Given the description of an element on the screen output the (x, y) to click on. 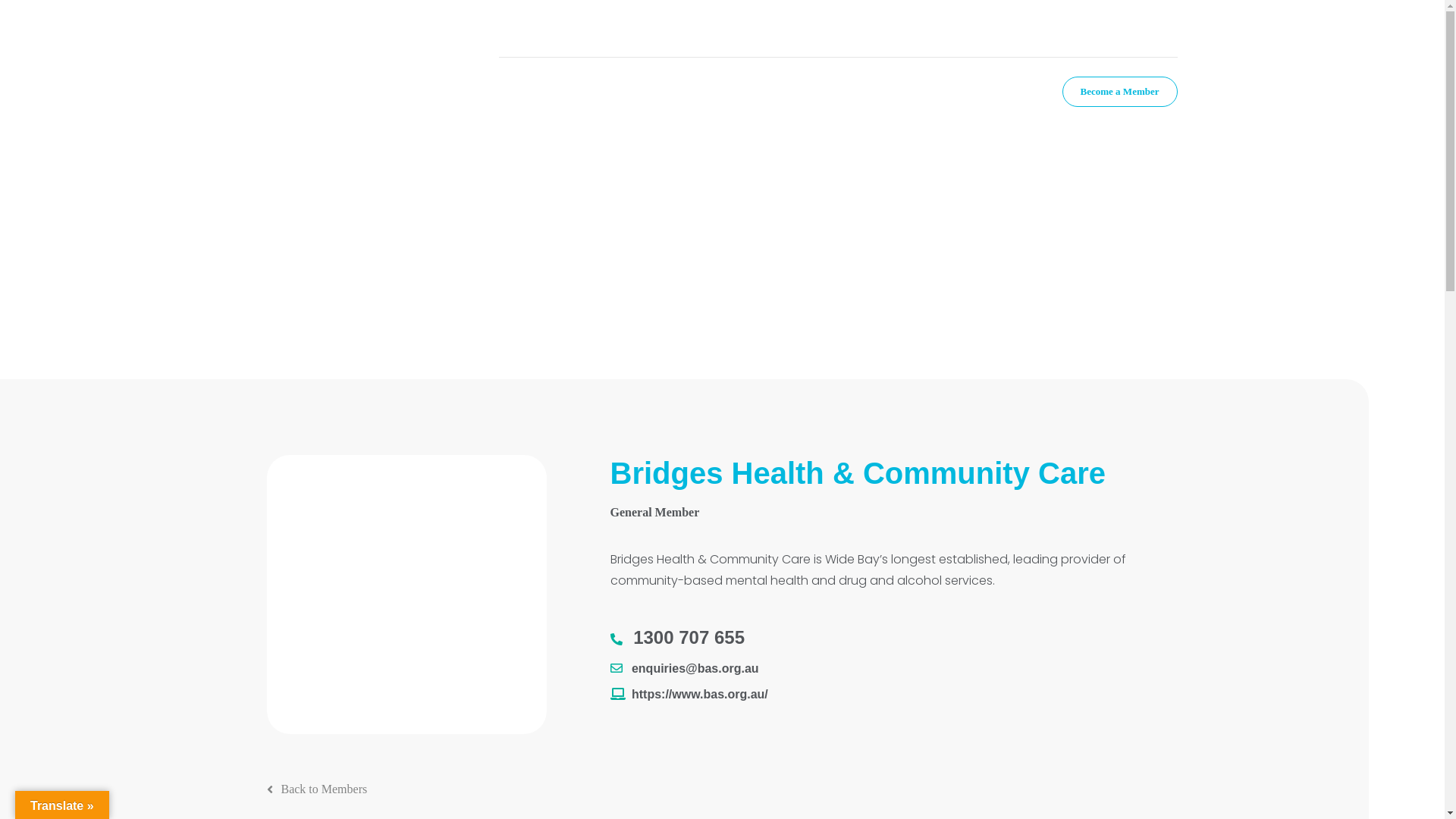
Back to Members Element type: text (316, 789)
LATEST NEWS Element type: text (580, 28)
Bridges Logo Element type: hover (406, 594)
Membership Element type: text (641, 91)
Search Element type: hover (1171, 28)
YouTube Element type: hover (1098, 27)
Instagram Element type: hover (1071, 27)
1300 707 655 Element type: text (676, 637)
HOME Element type: text (515, 28)
https://www.bas.org.au/ Element type: text (688, 693)
LOGIN Element type: text (701, 28)
Facebook Element type: hover (1016, 27)
EVENTS Element type: text (651, 28)
About Element type: text (524, 91)
Contact Element type: text (994, 91)
LinkedIn Element type: hover (1126, 27)
Become a Member Element type: text (1119, 91)
Our Work Element type: text (769, 91)
enquiries@bas.org.au Element type: text (683, 668)
Twitter Element type: hover (1044, 27)
Wellbeing Element type: text (889, 91)
NEED URGENT HELP? Element type: text (903, 28)
